Given the description of an element on the screen output the (x, y) to click on. 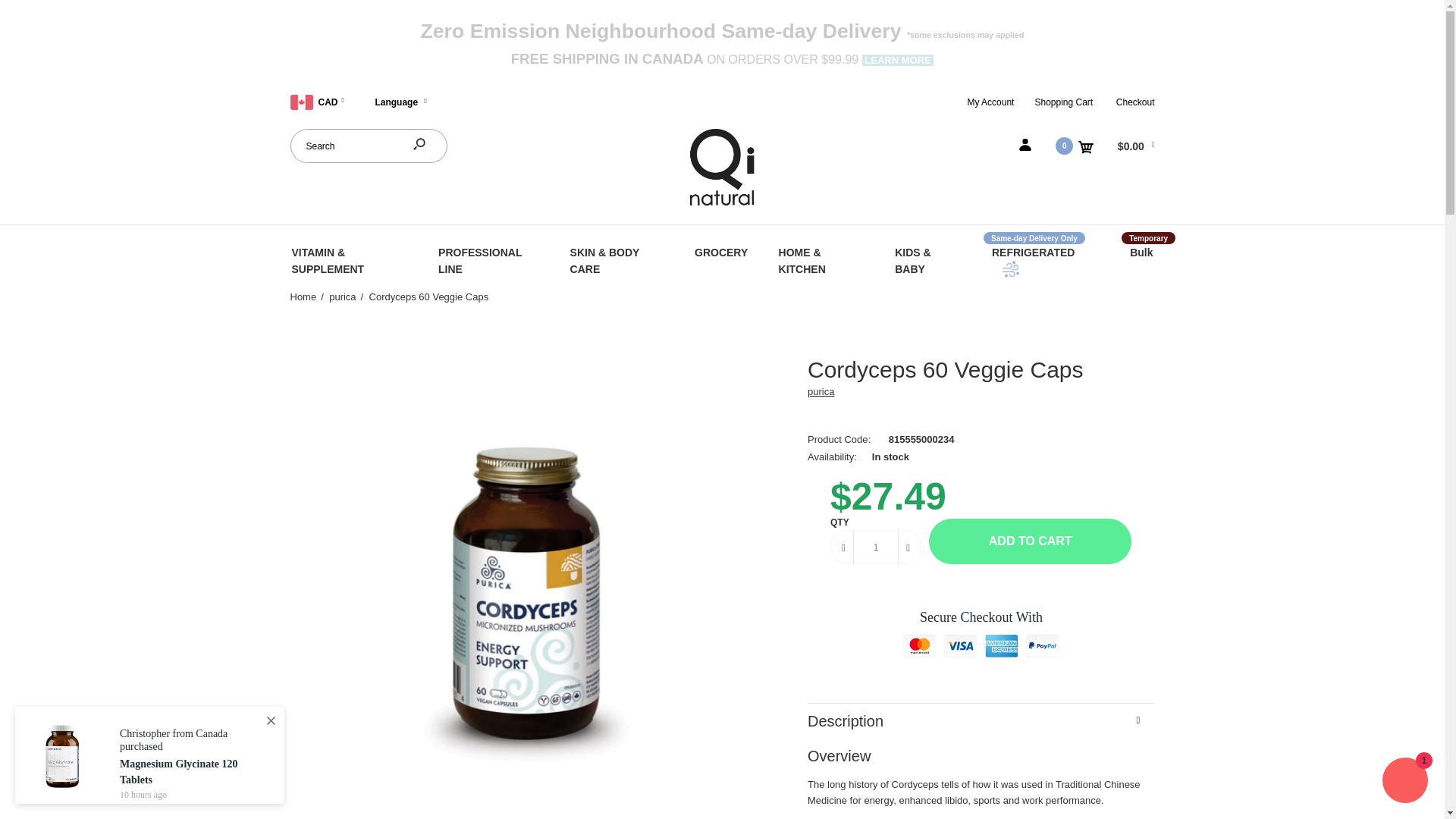
purica (821, 391)
1 (875, 546)
Add to cart (1030, 541)
Qi Natural Food (721, 204)
 LEARN MORE  (897, 60)
trust-badges-widget (981, 640)
